Given the description of an element on the screen output the (x, y) to click on. 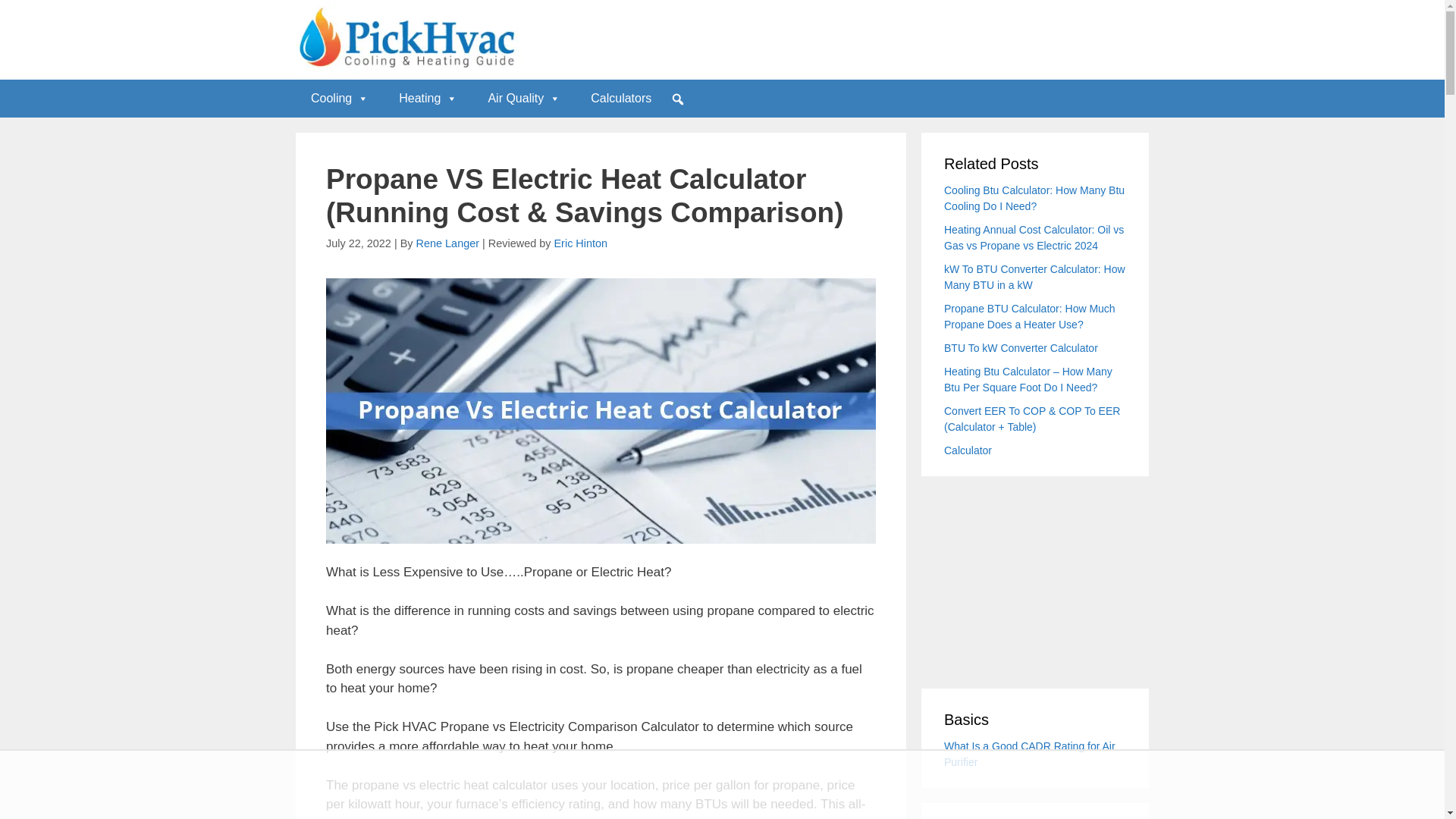
Air Quality (523, 98)
Rene Langer (449, 243)
Heating (427, 98)
Eric Hinton (580, 243)
Calculators (620, 98)
Cooling (339, 98)
Search (16, 16)
